Given the description of an element on the screen output the (x, y) to click on. 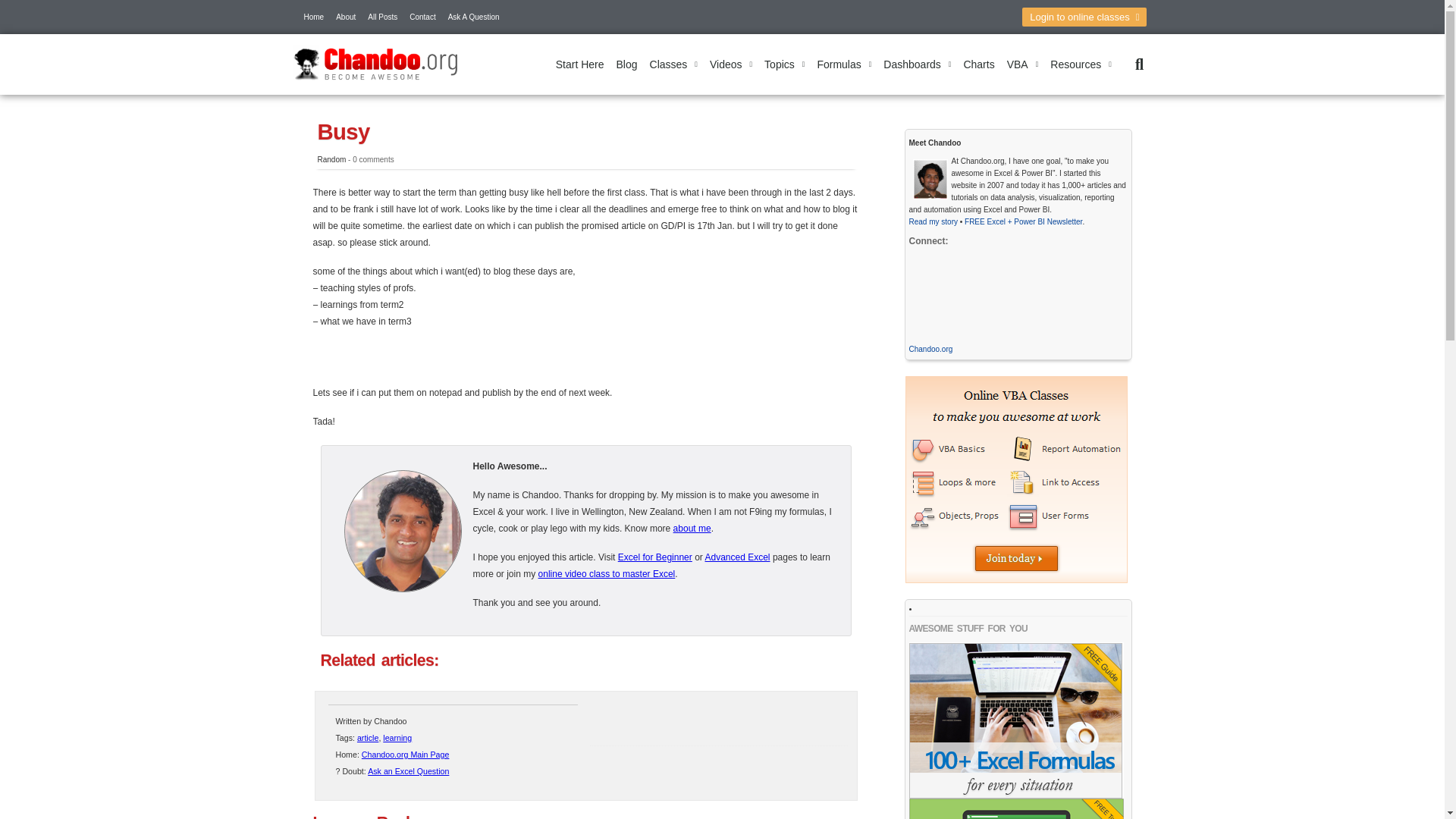
Formulas (843, 64)
Videos (730, 64)
About (345, 17)
Excel Dashboards (916, 64)
Blog (626, 64)
All Posts (382, 17)
Topics (784, 64)
Contact (422, 17)
Start Here (580, 64)
Ask A Question (473, 17)
